Given the description of an element on the screen output the (x, y) to click on. 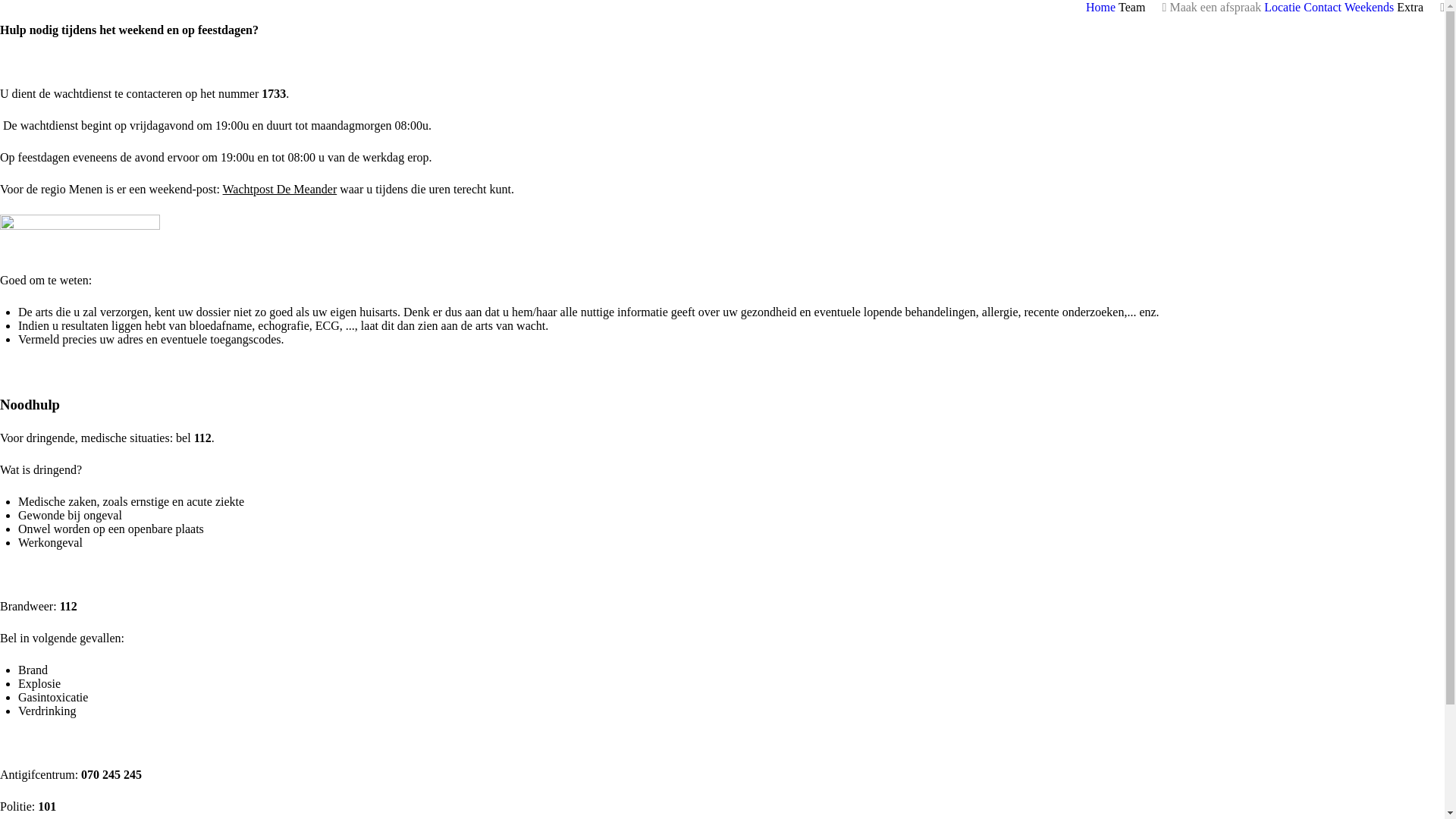
Locatie Element type: text (1282, 7)
Home Element type: text (1100, 7)
Maak een afspraak Element type: text (1215, 7)
Contact Element type: text (1322, 7)
Weekends Element type: text (1368, 7)
